Given the description of an element on the screen output the (x, y) to click on. 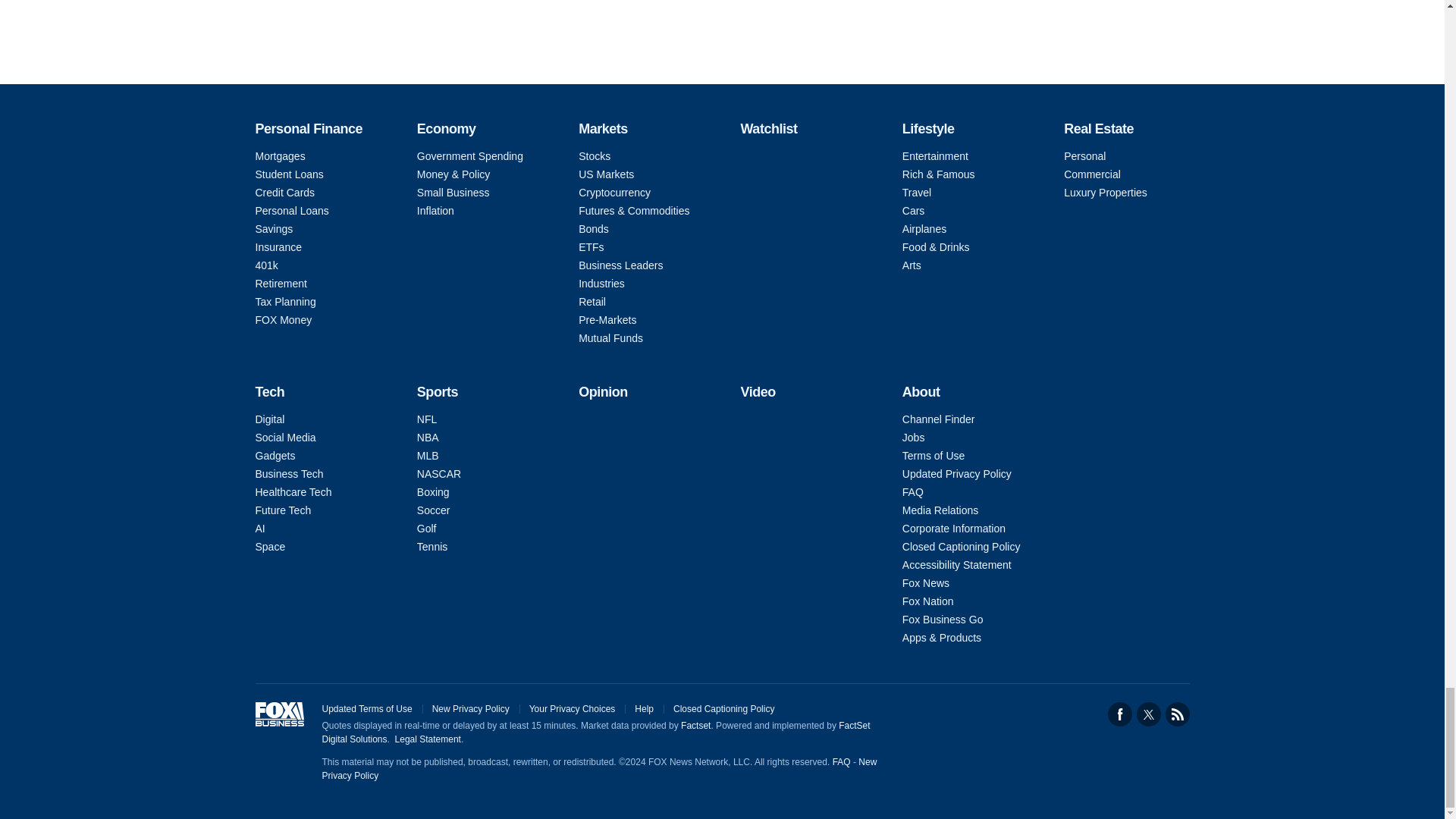
Feedback Question By Knotch (721, 17)
